Given the description of an element on the screen output the (x, y) to click on. 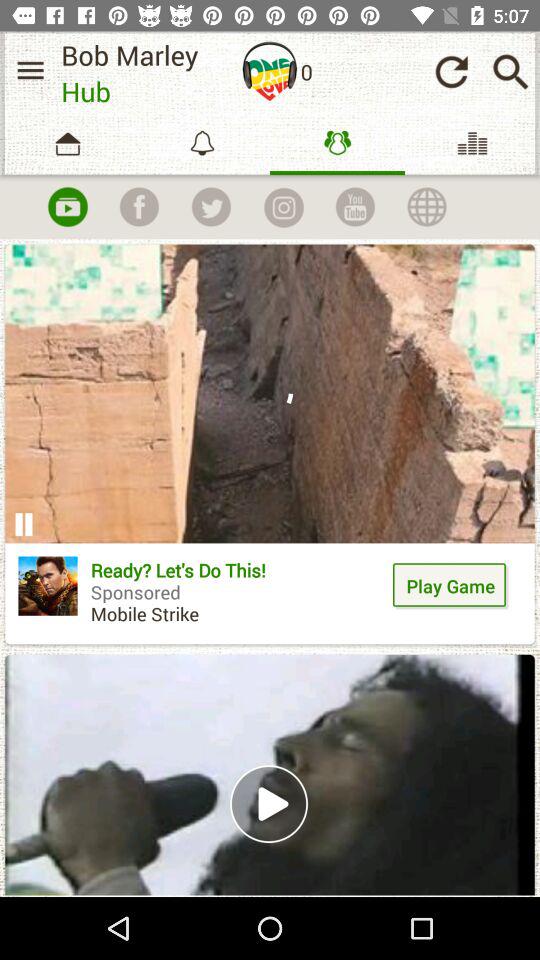
open item to the right of bob marley item (269, 71)
